Given the description of an element on the screen output the (x, y) to click on. 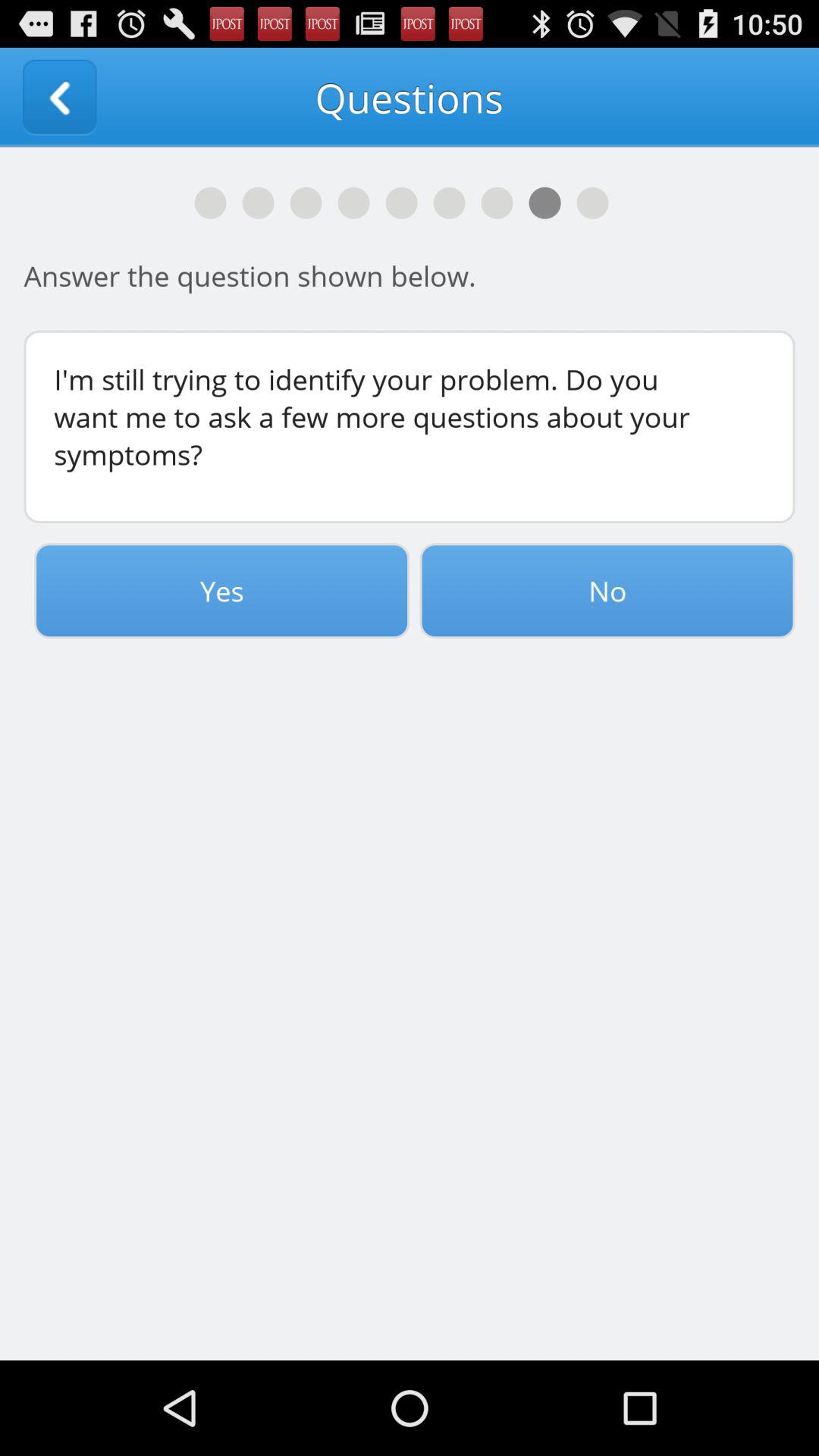
click button to the right of the yes item (607, 590)
